Given the description of an element on the screen output the (x, y) to click on. 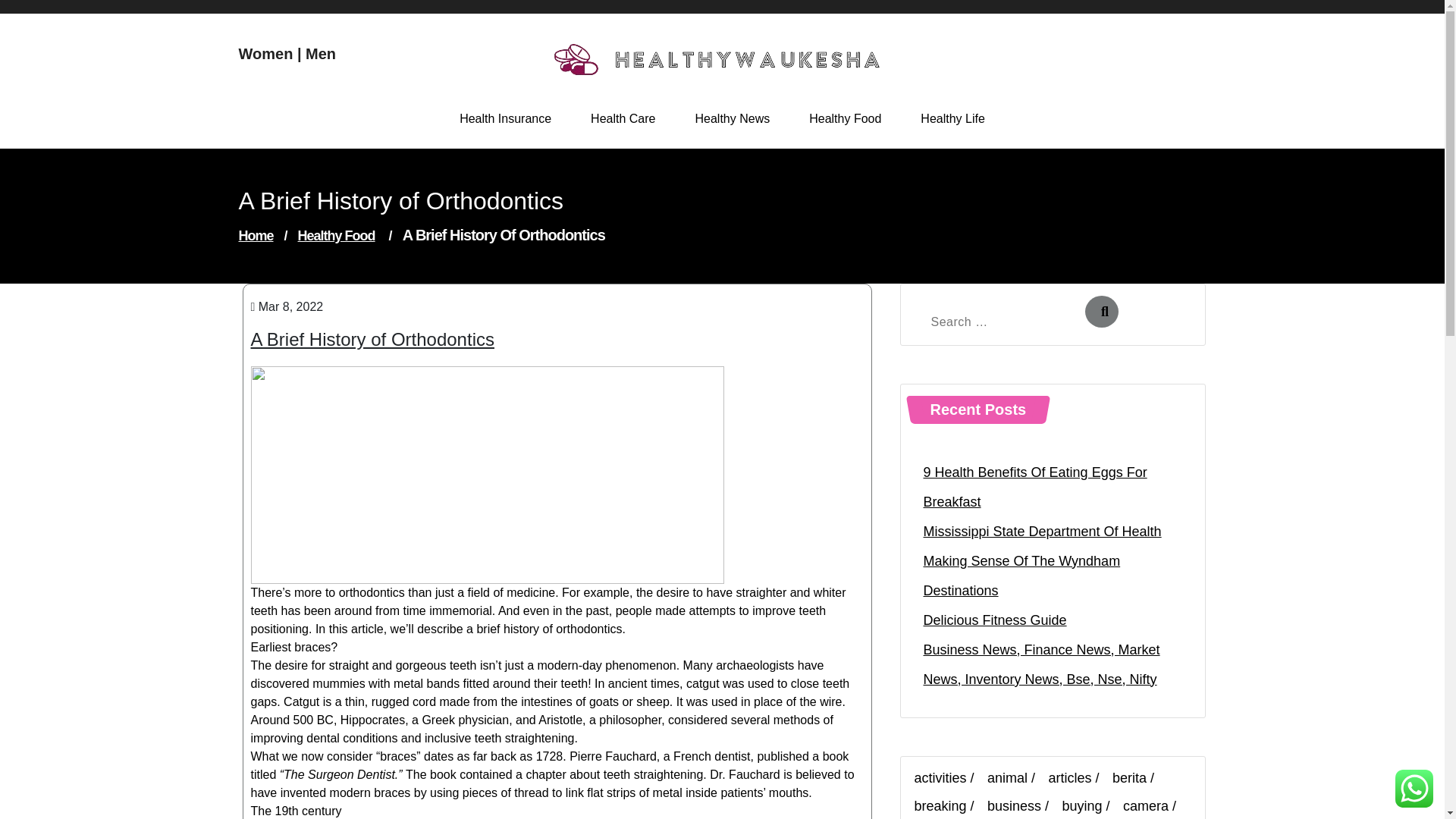
Health Insurance (505, 118)
Health Care (623, 118)
breaking (947, 806)
animal (1014, 778)
Men (320, 53)
business (1022, 806)
activities (947, 778)
Mississippi State Department Of Health (1042, 531)
berita (1136, 778)
Home (255, 235)
Making Sense Of The Wyndham Destinations (1052, 576)
Healthy News (732, 118)
Healthy Food (336, 235)
Delicious Fitness Guide (995, 620)
camera (1152, 806)
